Given the description of an element on the screen output the (x, y) to click on. 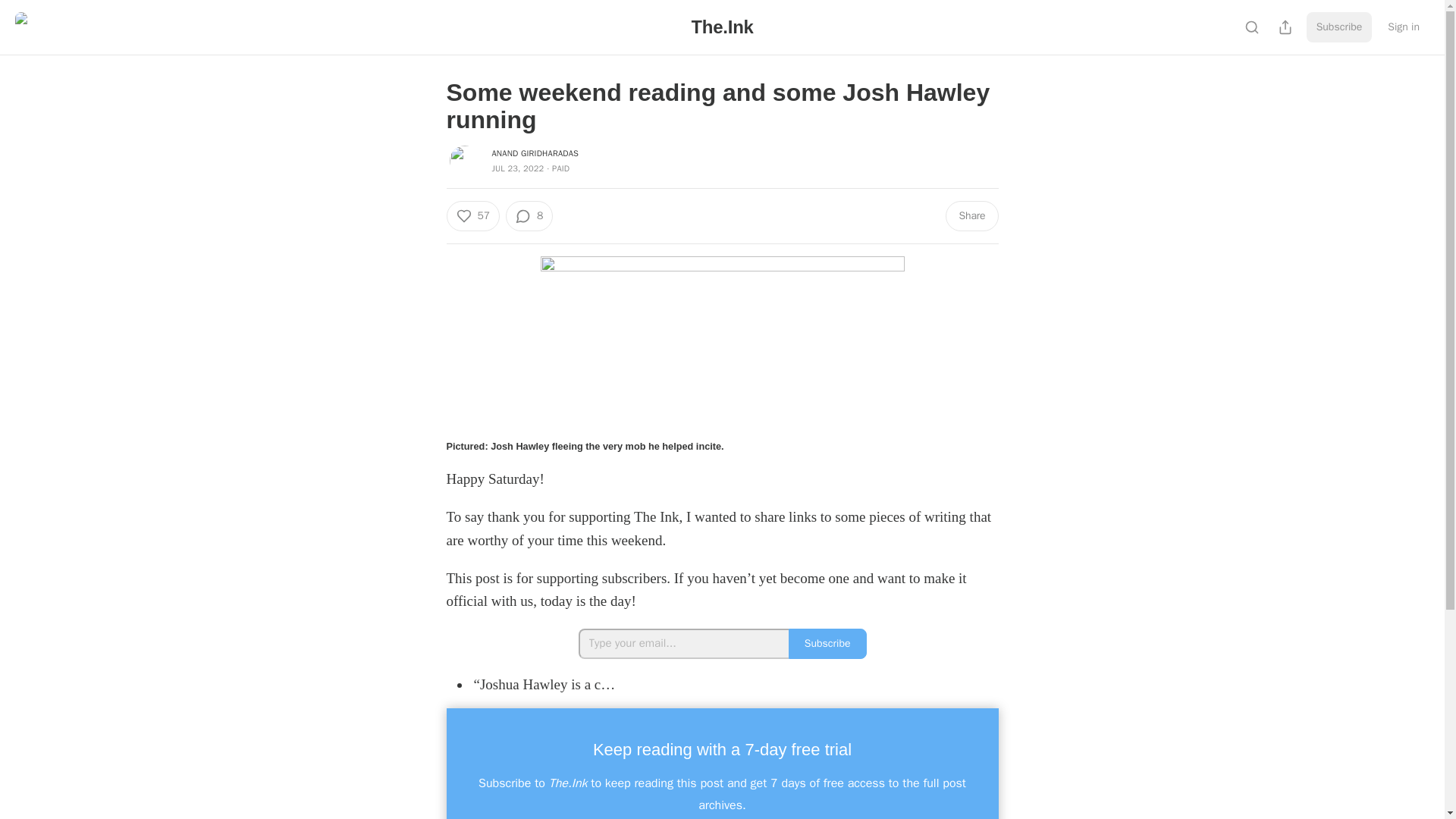
ANAND GIRIDHARADAS (535, 153)
Subscribe (1339, 27)
8 (529, 215)
The.Ink (721, 26)
57 (472, 215)
Subscribe (827, 643)
Sign in (1403, 27)
Share (970, 215)
